Given the description of an element on the screen output the (x, y) to click on. 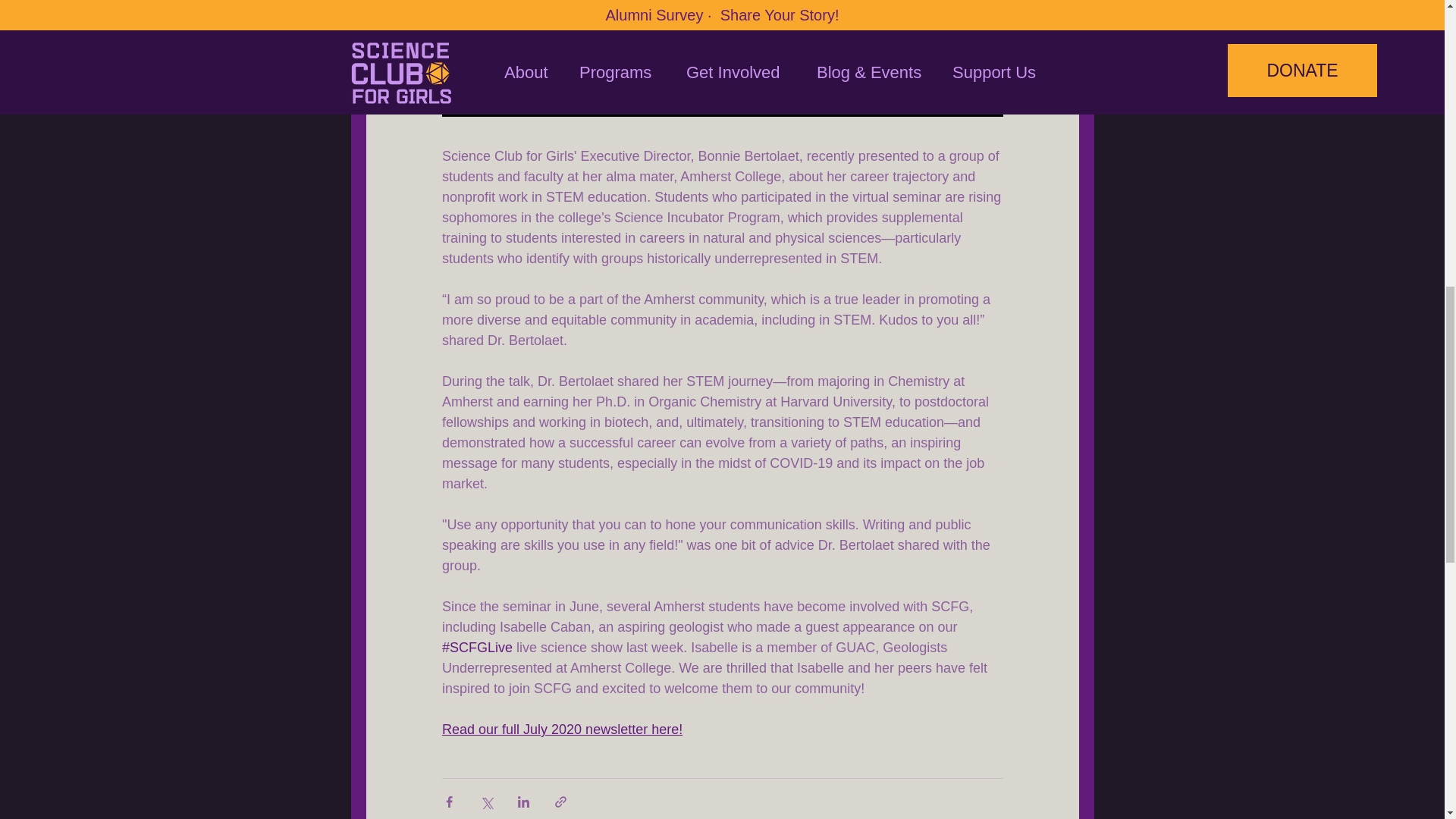
Read our full July 2020 newsletter here! (561, 729)
